Given the description of an element on the screen output the (x, y) to click on. 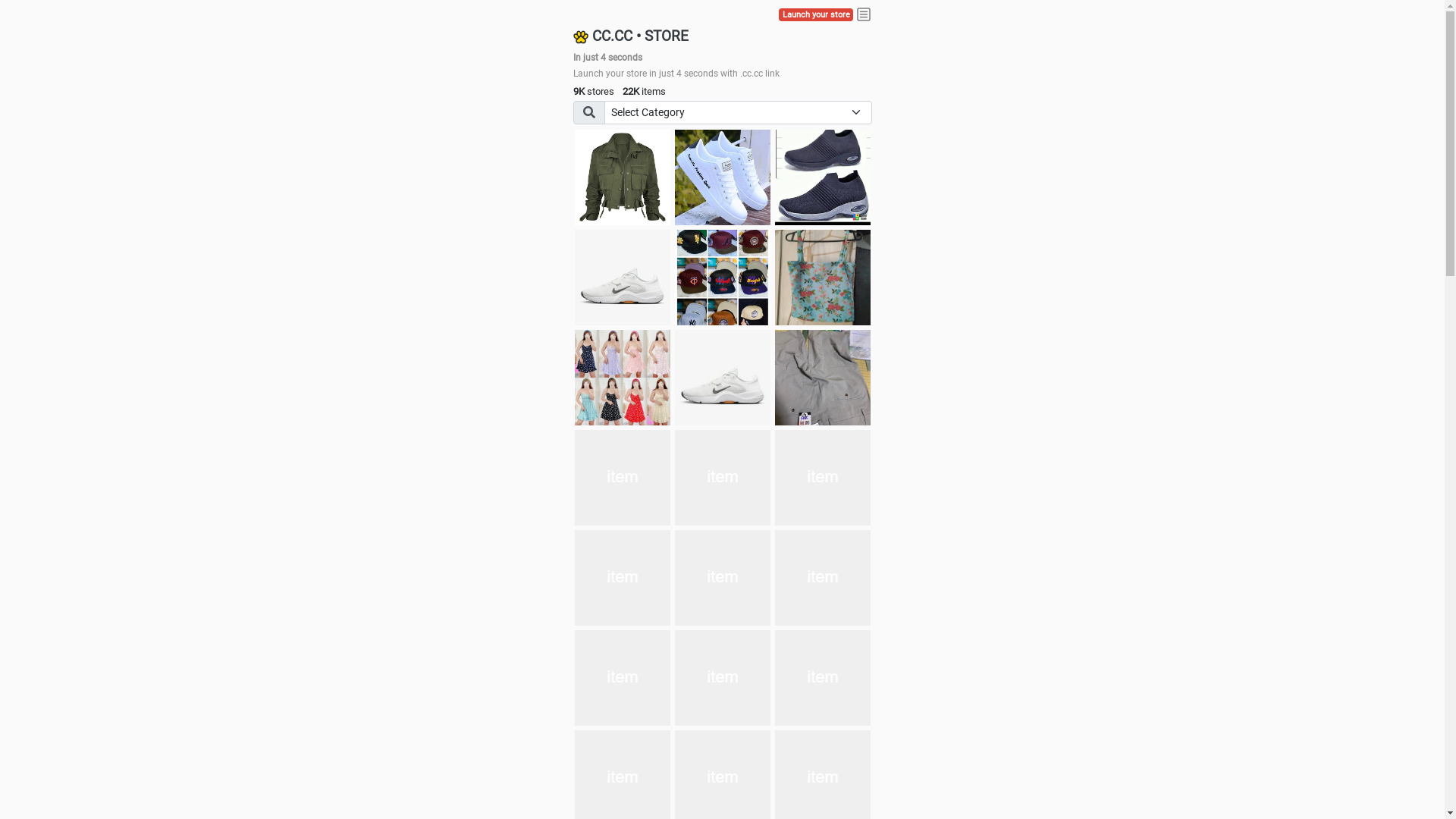
Things we need Element type: hover (722, 277)
Zapatillas pumas Element type: hover (622, 477)
Pant Element type: hover (722, 677)
Shoes for boys Element type: hover (622, 277)
Pant Element type: hover (822, 677)
Pant Element type: hover (622, 577)
Dress/square nect top Element type: hover (622, 377)
Launch your store Element type: text (815, 14)
Pant Element type: hover (822, 577)
Shoes Element type: hover (722, 377)
Zapatillas Element type: hover (722, 477)
Short pant Element type: hover (822, 477)
white shoes Element type: hover (722, 177)
Pant Element type: hover (722, 577)
Ukay cloth Element type: hover (822, 277)
shoes for boys Element type: hover (822, 177)
jacket Element type: hover (622, 177)
Pant Element type: hover (622, 677)
